Given the description of an element on the screen output the (x, y) to click on. 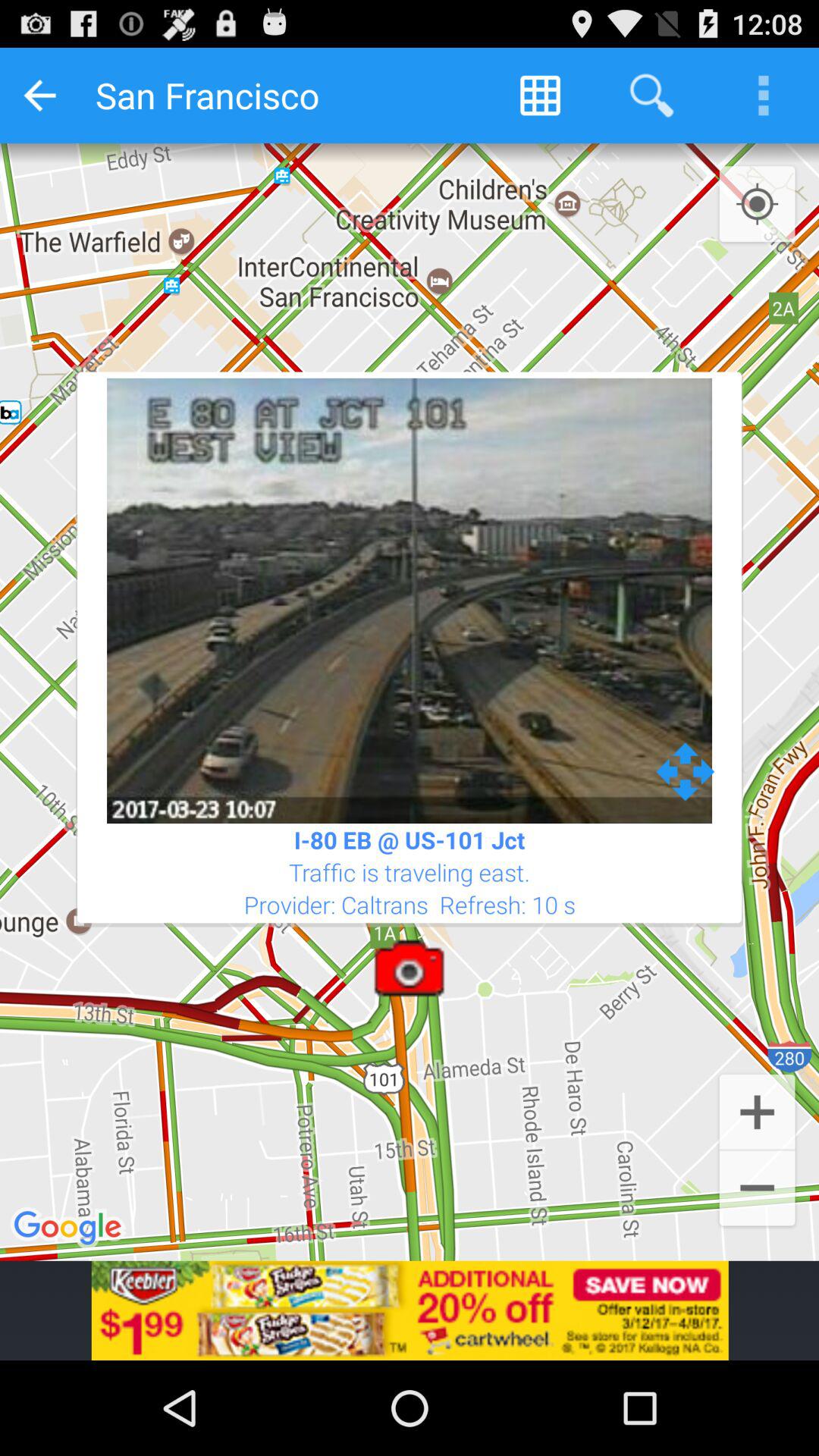
adverts (409, 1310)
